Given the description of an element on the screen output the (x, y) to click on. 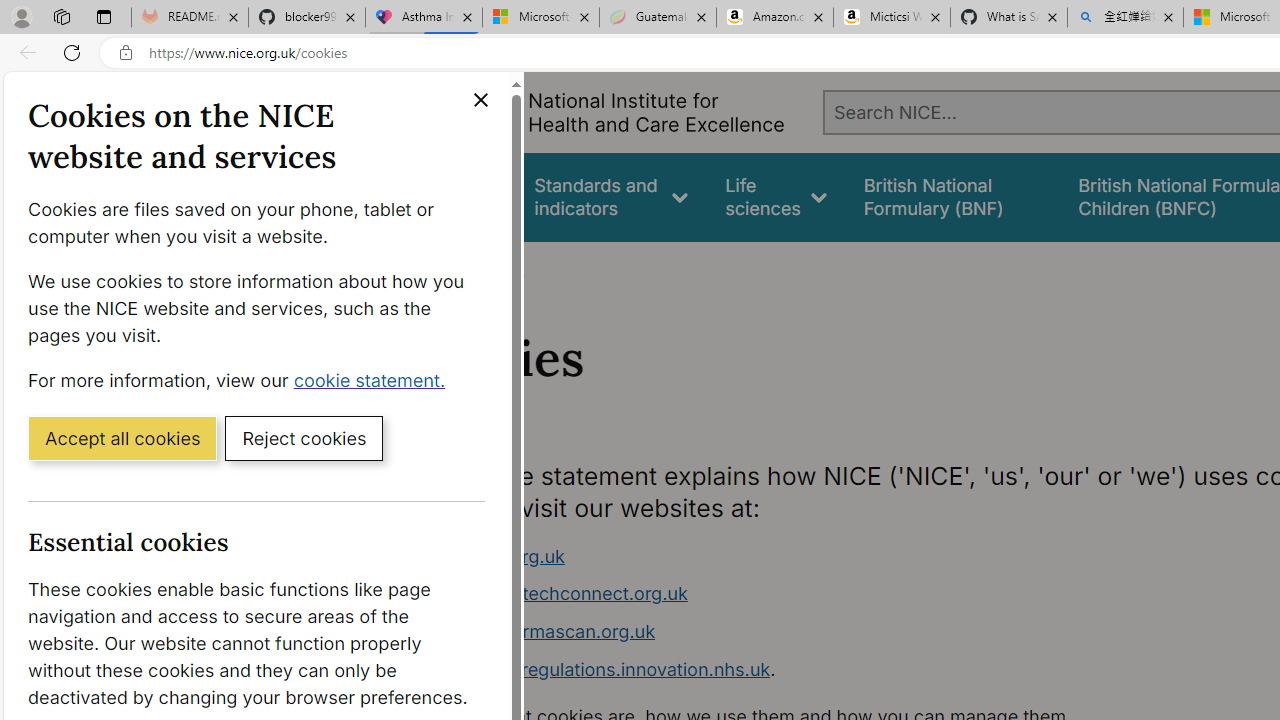
www.nice.org.uk (796, 556)
Home> (433, 268)
Reject cookies (304, 437)
www.digitalregulations.innovation.nhs.uk. (796, 669)
